Given the description of an element on the screen output the (x, y) to click on. 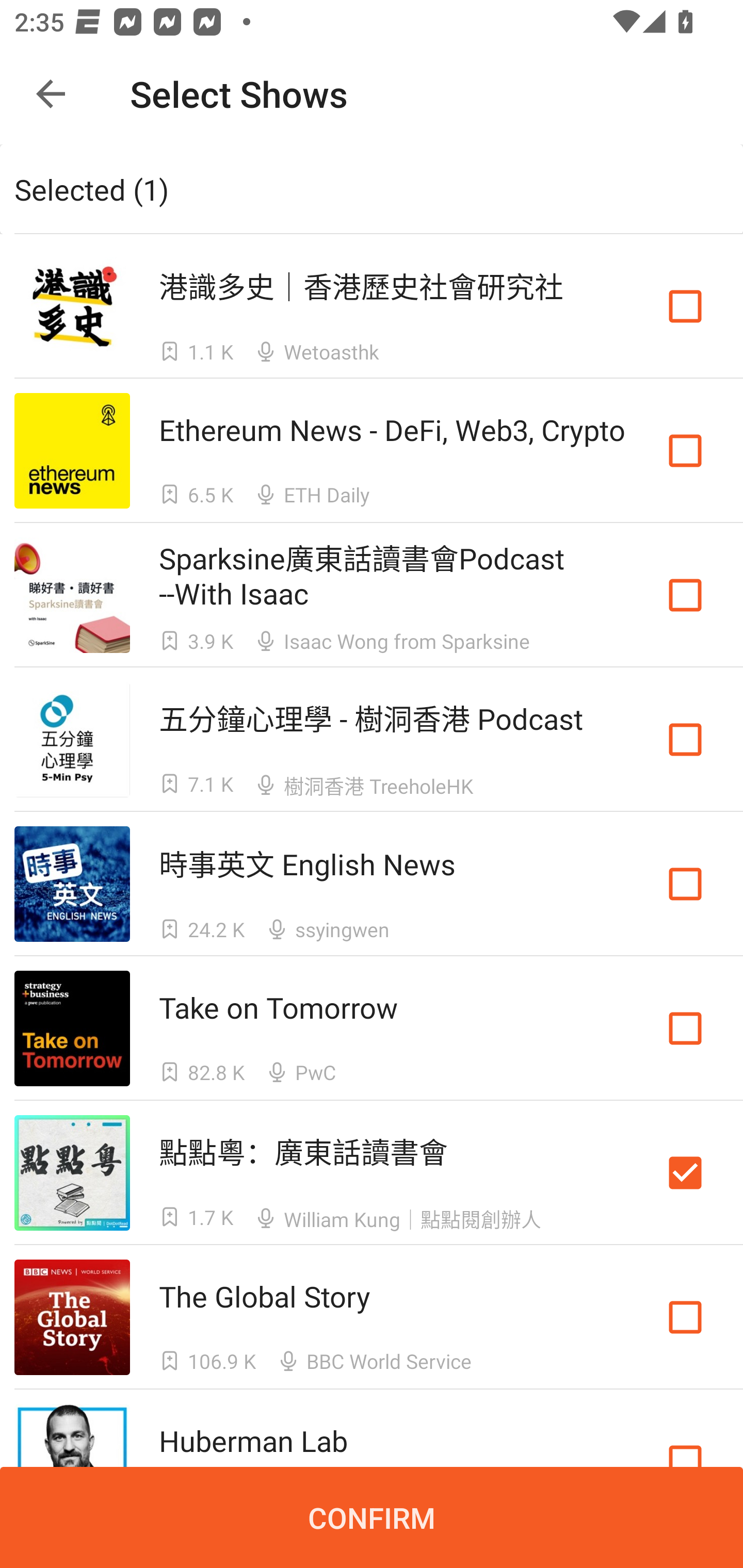
Navigate up (50, 93)
港識多史｜香港歷史社會研究社 港識多史｜香港歷史社會研究社  1.1 K  Wetoasthk (371, 305)
Take on Tomorrow Take on Tomorrow  82.8 K  PwC (371, 1028)
CONFIRM (371, 1517)
